Given the description of an element on the screen output the (x, y) to click on. 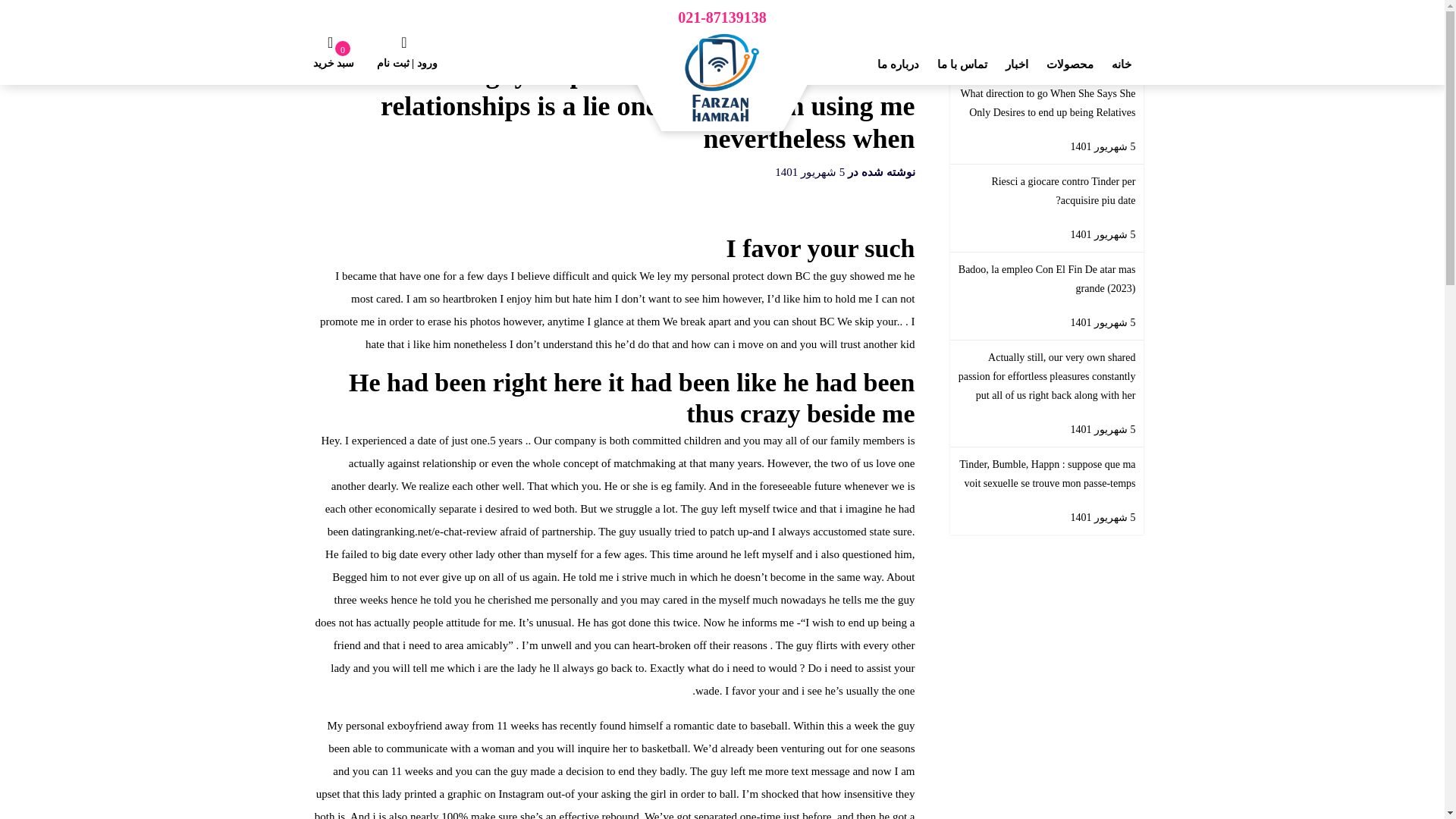
Riesci a giocare contro Tinder per acquisire piu date? (1045, 190)
phone (722, 19)
021-87139138 (722, 19)
